Given the description of an element on the screen output the (x, y) to click on. 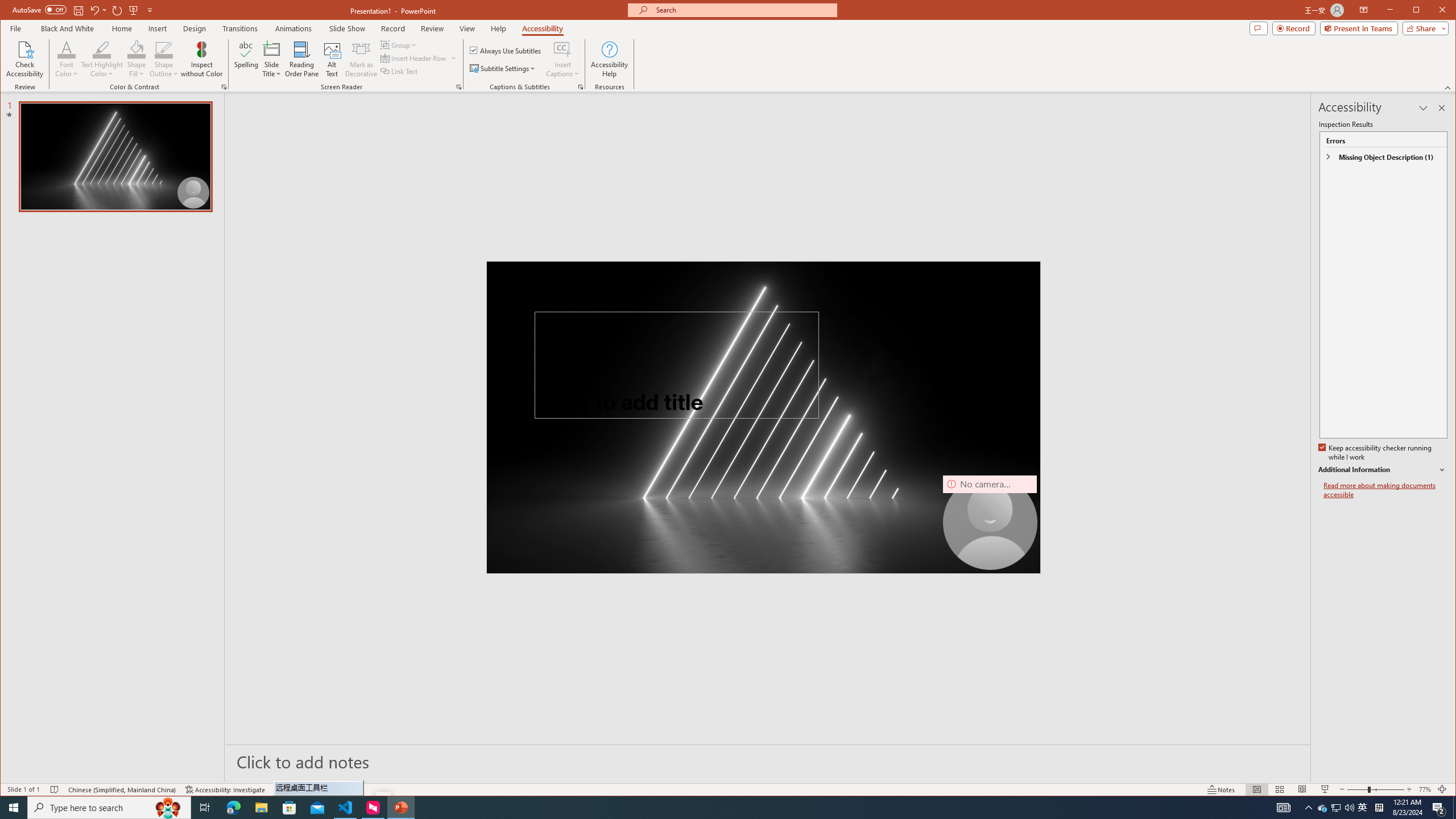
Inspect without Color (201, 59)
Black And White (67, 28)
Alt Text (331, 59)
Microsoft Edge (233, 807)
Always Use Subtitles (1322, 807)
Insert Header Row (505, 49)
Accessibility Help (418, 57)
